Given the description of an element on the screen output the (x, y) to click on. 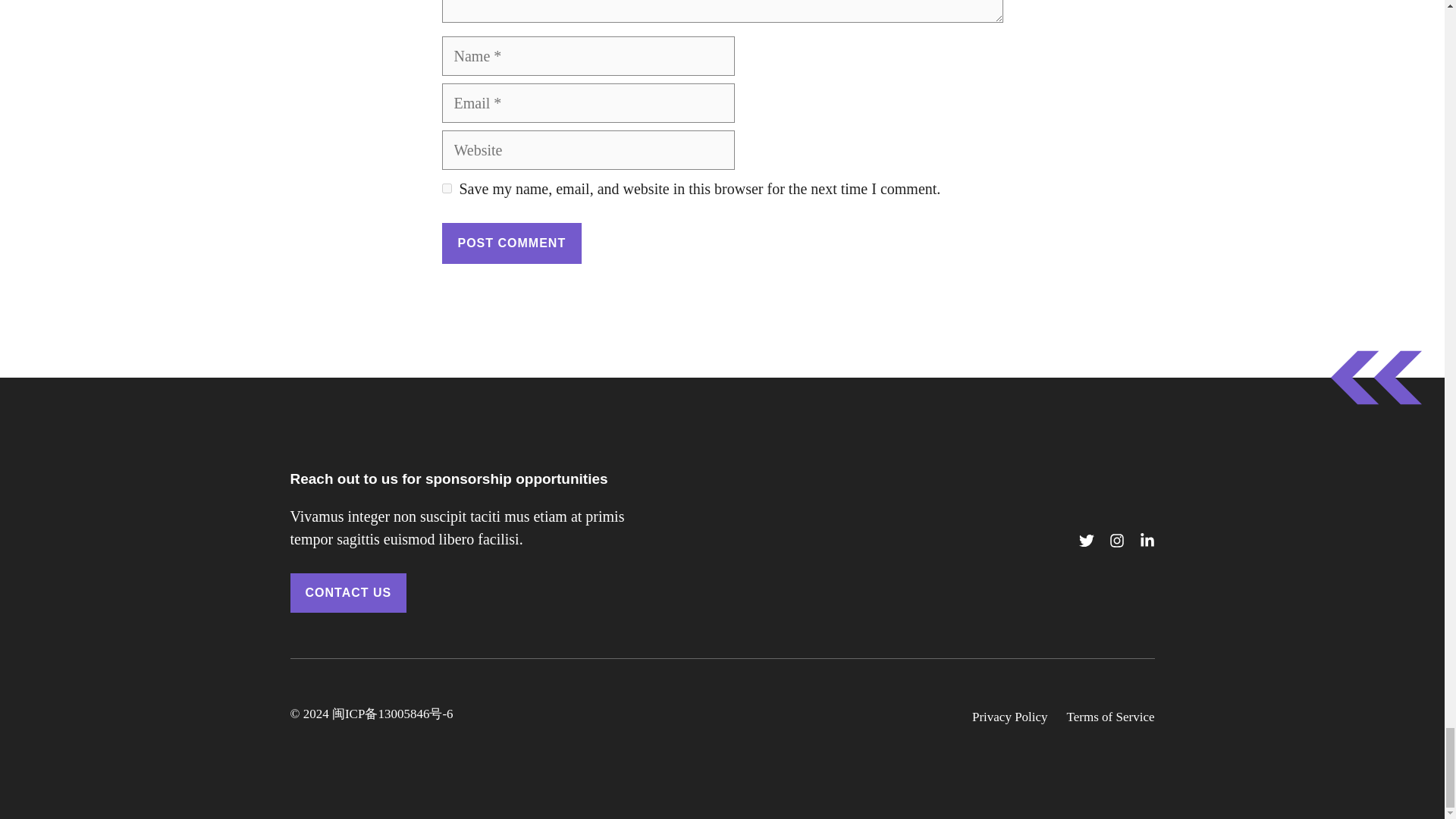
Privacy Policy (1010, 717)
CONTACT US (347, 592)
yes (446, 188)
Post Comment (510, 242)
Terms of Service (1110, 717)
Post Comment (510, 242)
